Given the description of an element on the screen output the (x, y) to click on. 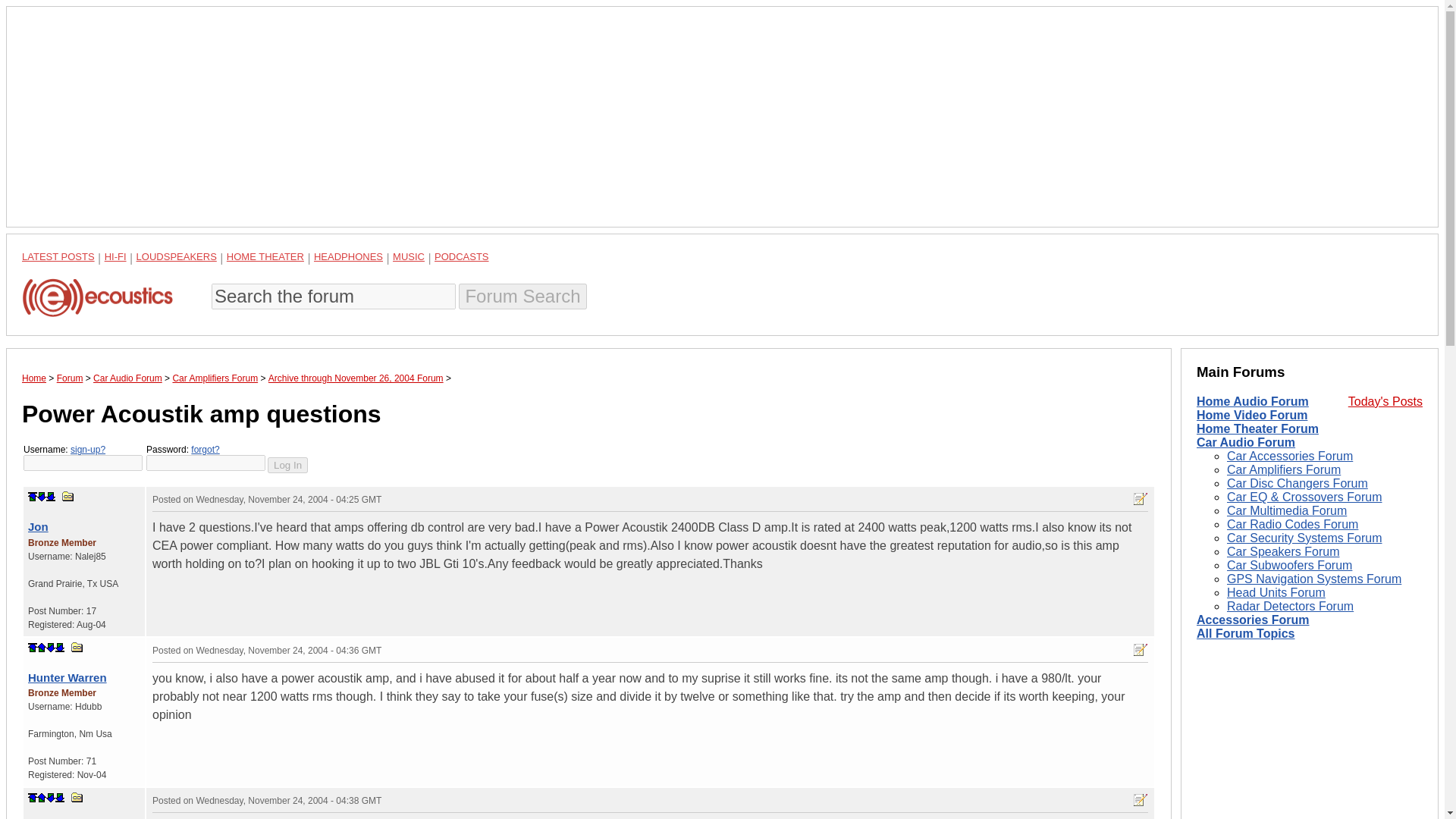
Search the forum (333, 296)
Log In (287, 465)
link to this post (68, 496)
Edit Post (1140, 799)
Jon (37, 526)
last post (59, 646)
MUSIC (409, 256)
previous post (41, 797)
sign-up? (86, 449)
last post (59, 797)
